Given the description of an element on the screen output the (x, y) to click on. 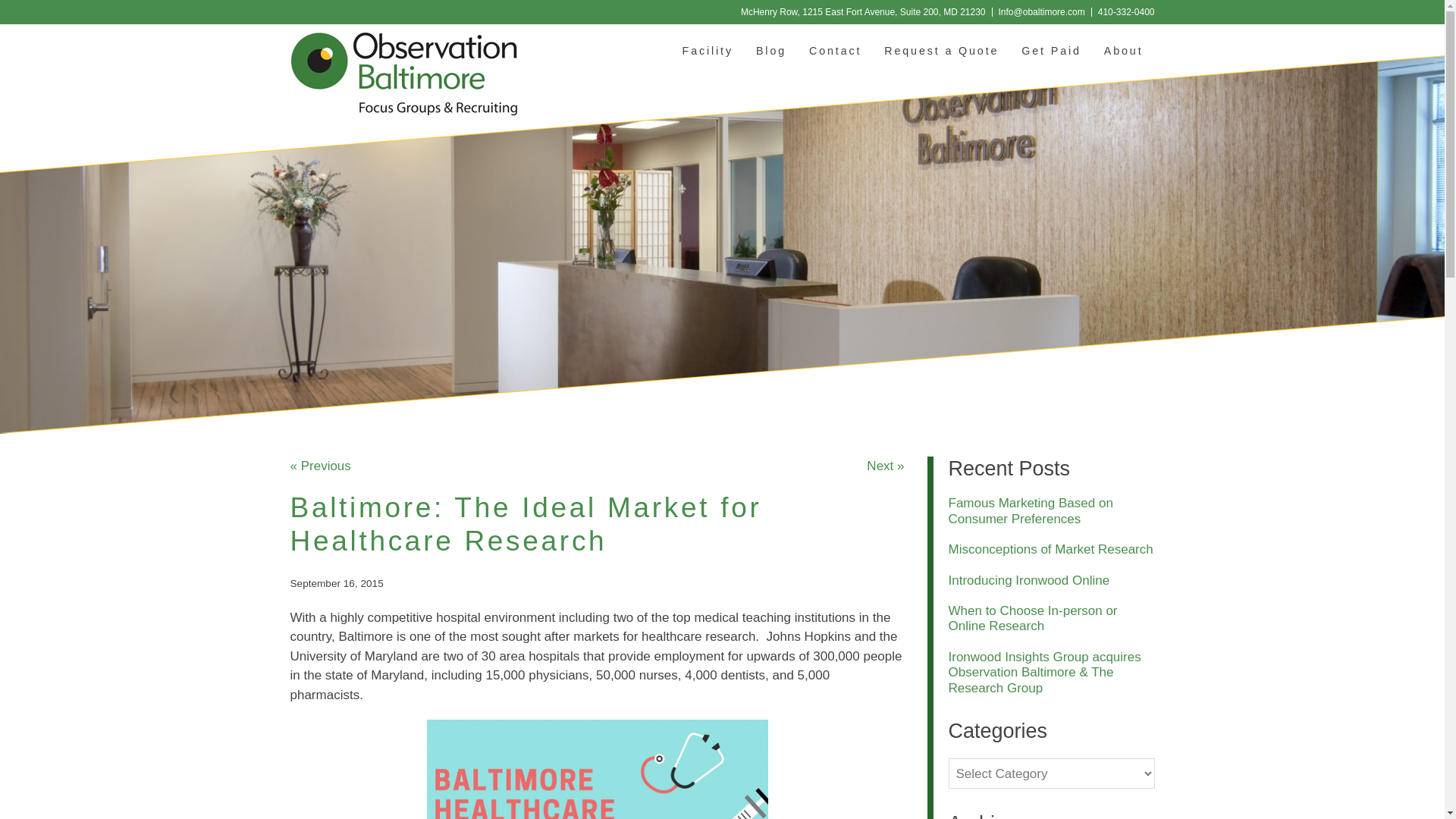
When to Choose In-person or Online Research (1031, 618)
Get Paid (1051, 50)
Blog (770, 50)
Misconceptions of Market Research (1050, 549)
Introducing Ironwood Online (1028, 580)
410-332-0400 (1125, 11)
Facility (707, 50)
Famous Marketing Based on Consumer Preferences (1029, 510)
Contact (834, 50)
Observation Baltimore (403, 74)
About (1123, 50)
Baltimore Healthcare Infographic (596, 769)
Request a Quote (941, 50)
